Given the description of an element on the screen output the (x, y) to click on. 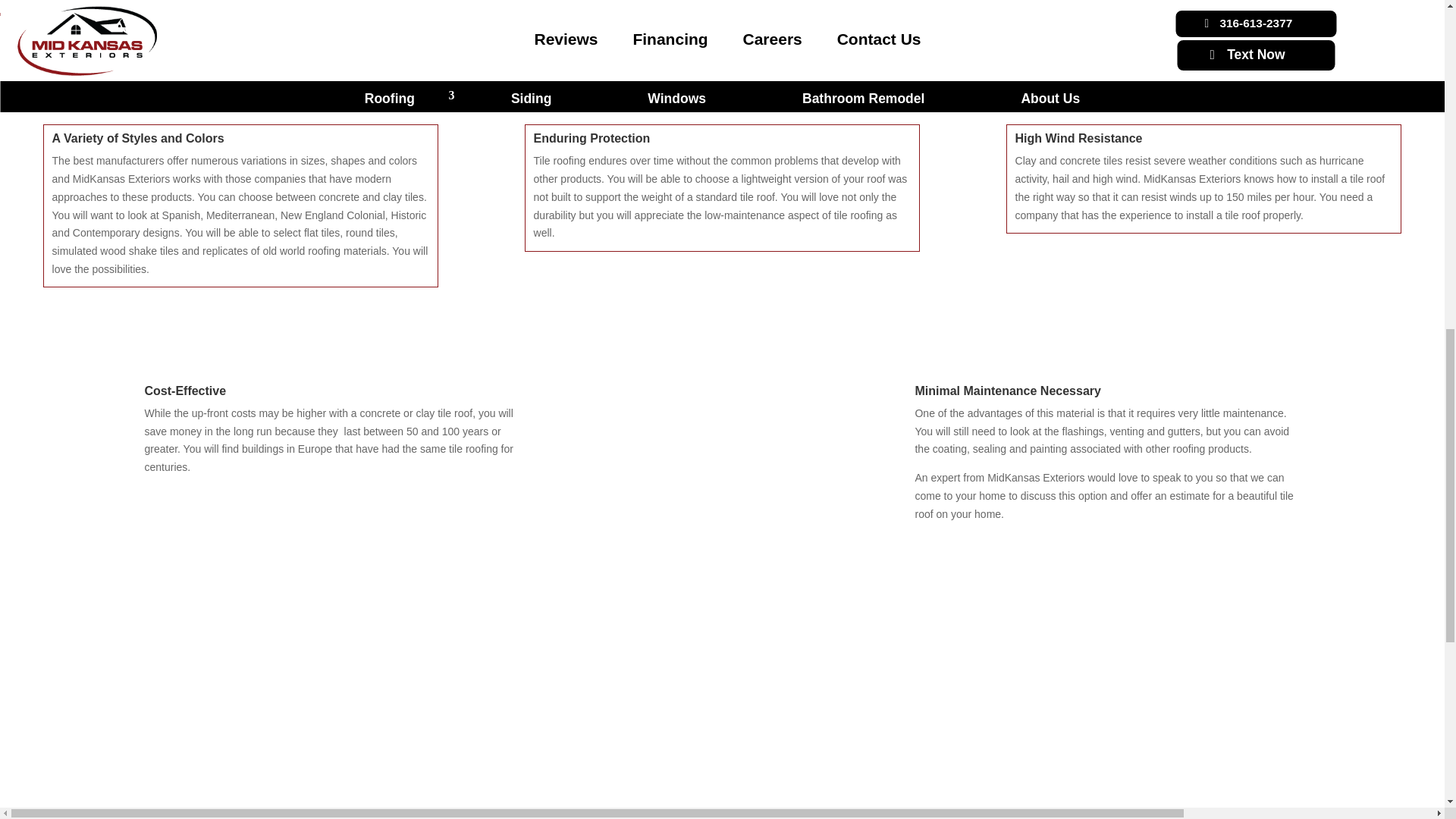
Roofing (169, 758)
Mid-Kansas-Exteriors-background (703, 476)
